Given the description of an element on the screen output the (x, y) to click on. 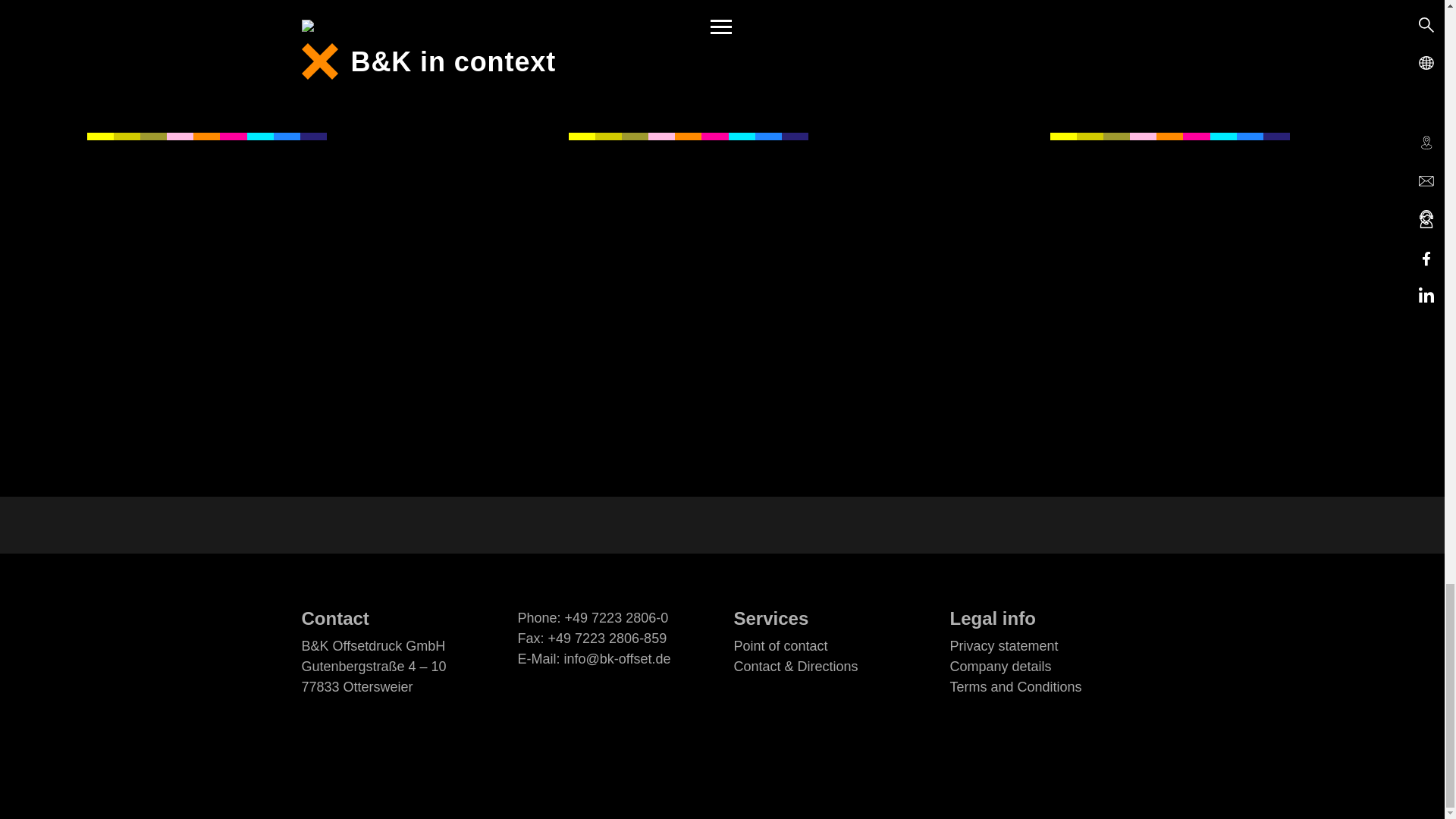
E-Mail (617, 658)
